Given the description of an element on the screen output the (x, y) to click on. 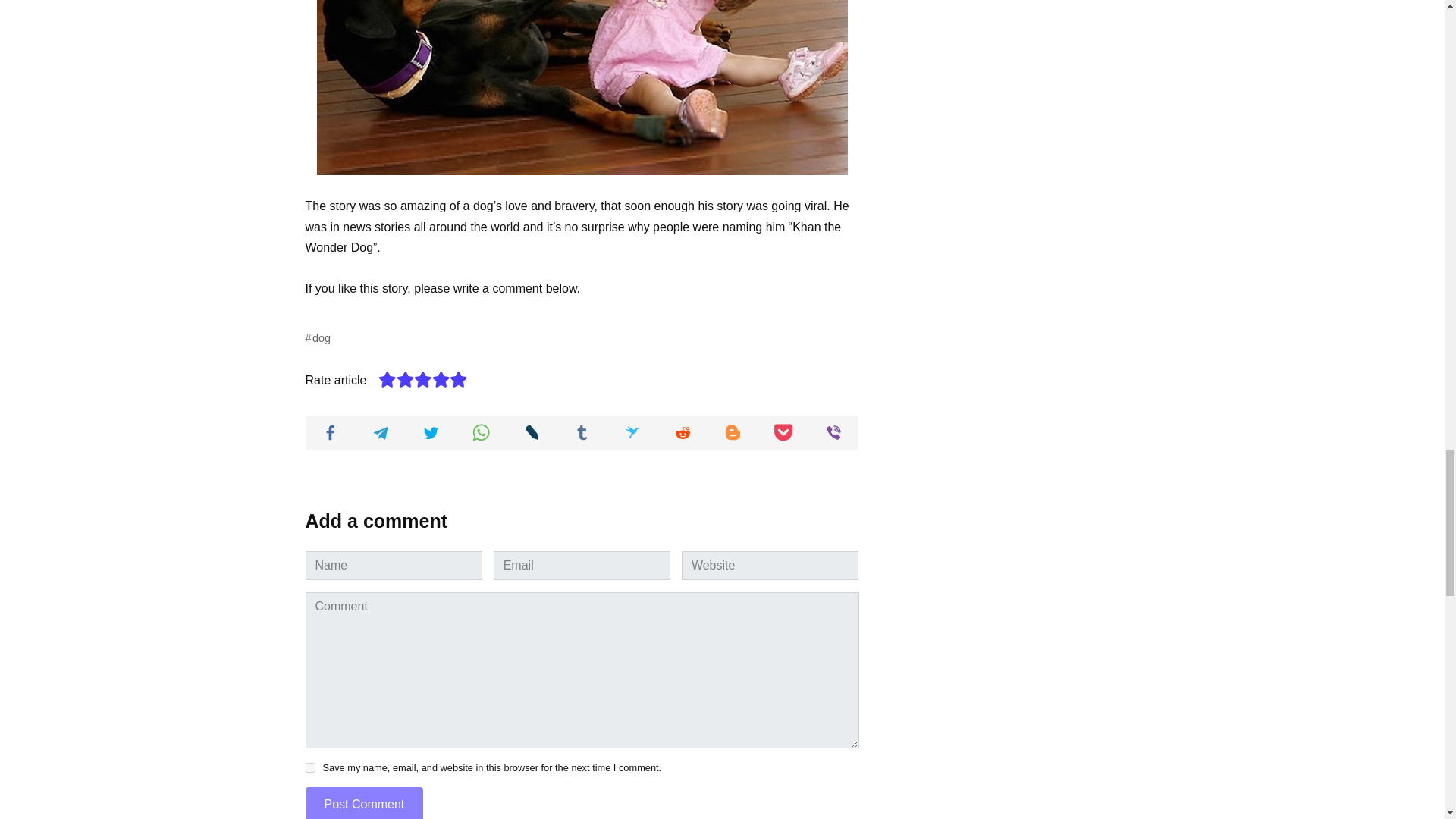
yes (309, 767)
Post Comment (363, 803)
dog (317, 337)
Post Comment (363, 803)
